Given the description of an element on the screen output the (x, y) to click on. 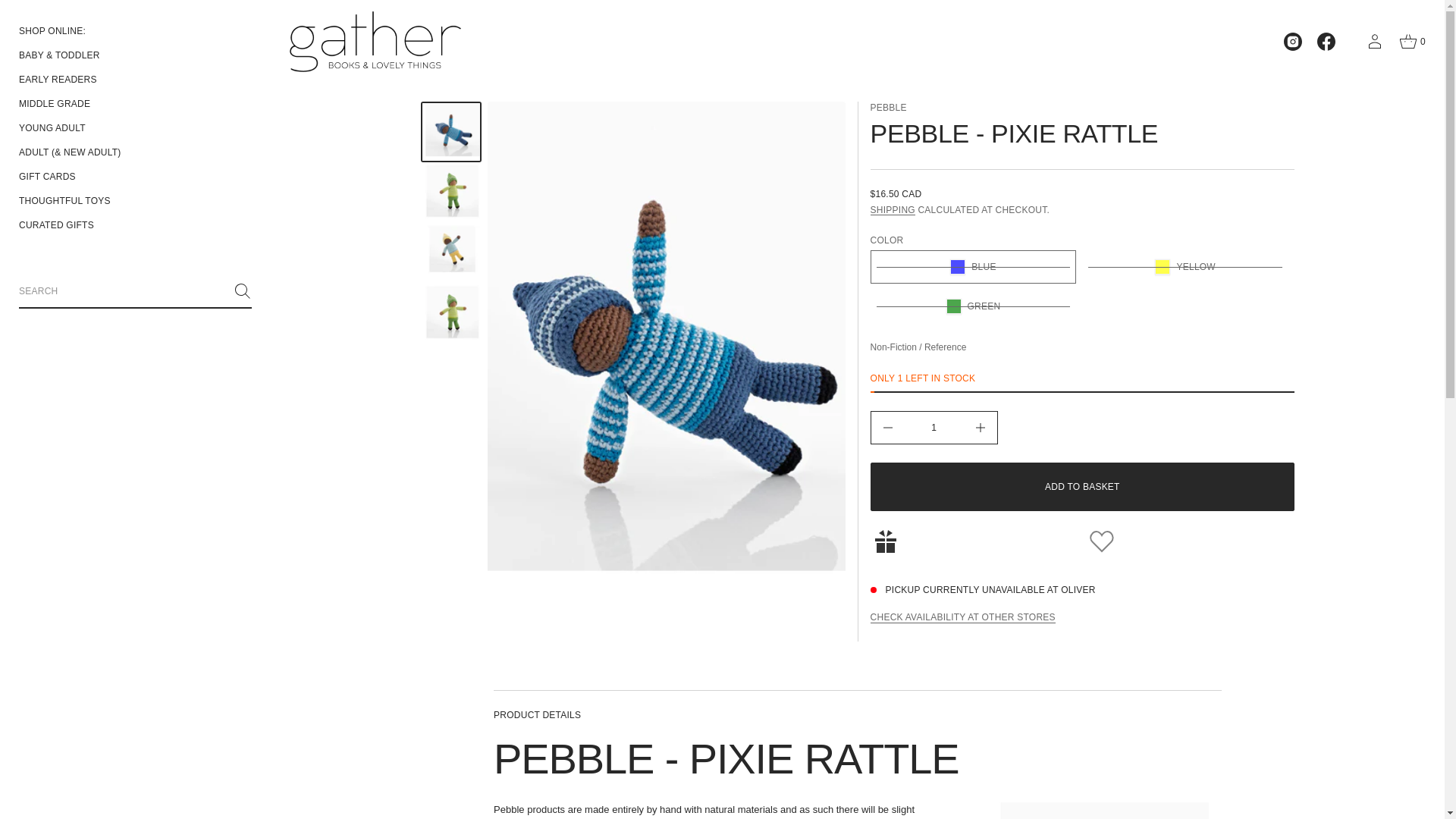
Add to Wishlist (1190, 541)
EARLY READERS (57, 79)
YOUNG ADULT (51, 128)
Add to Registry (974, 541)
CURATED GIFTS (56, 224)
0 (1411, 41)
SHOP ONLINE: (134, 30)
Pebble (888, 107)
SHOP ONLINE: (51, 30)
1 (933, 427)
MIDDLE GRADE (134, 103)
CURATED GIFTS (134, 224)
THOUGHTFUL TOYS (64, 200)
